Given the description of an element on the screen output the (x, y) to click on. 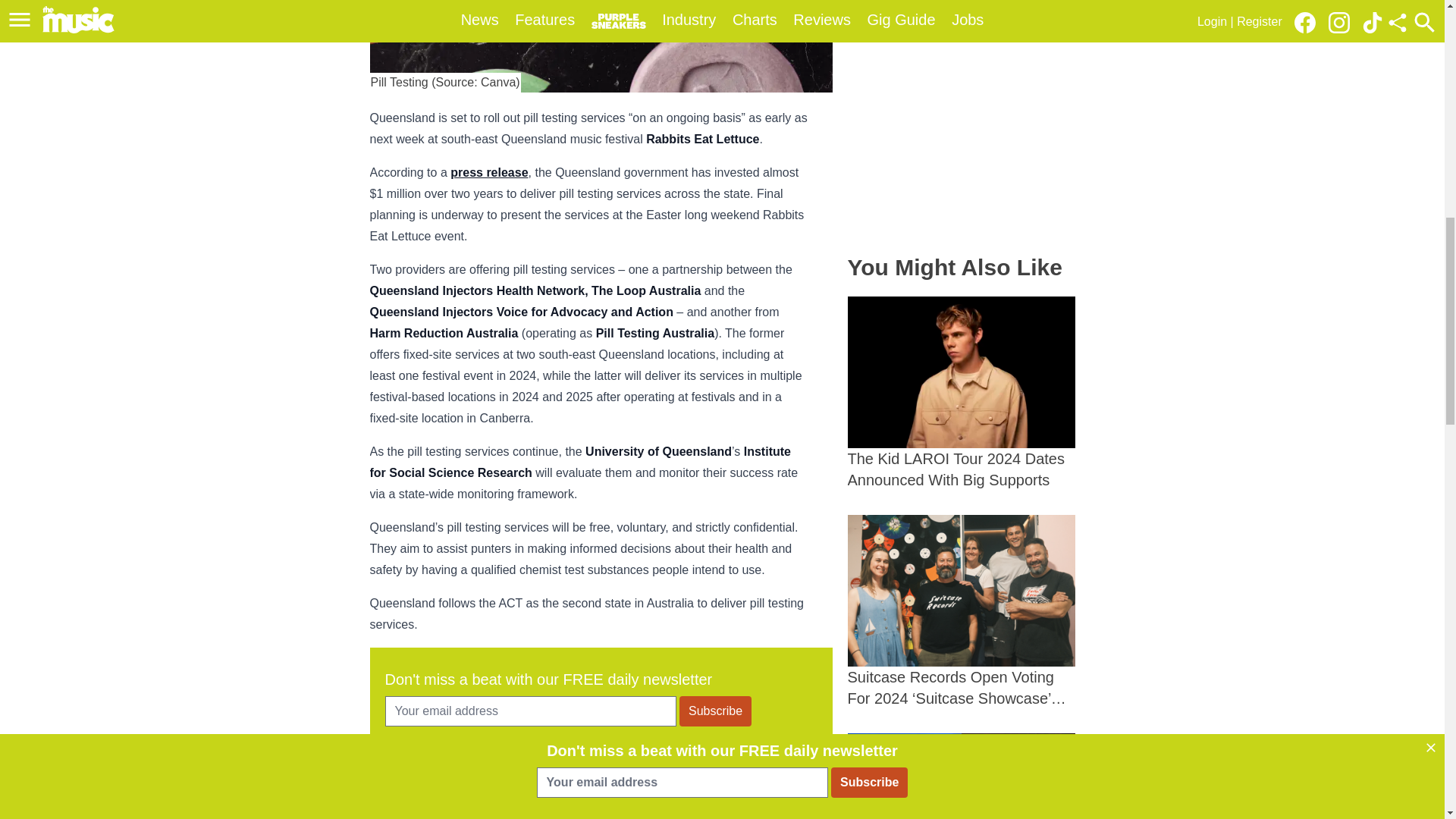
press release (488, 172)
Subscribe (715, 711)
The Kid LAROI Tour 2024 Dates Announced With Big Supports (961, 393)
